Given the description of an element on the screen output the (x, y) to click on. 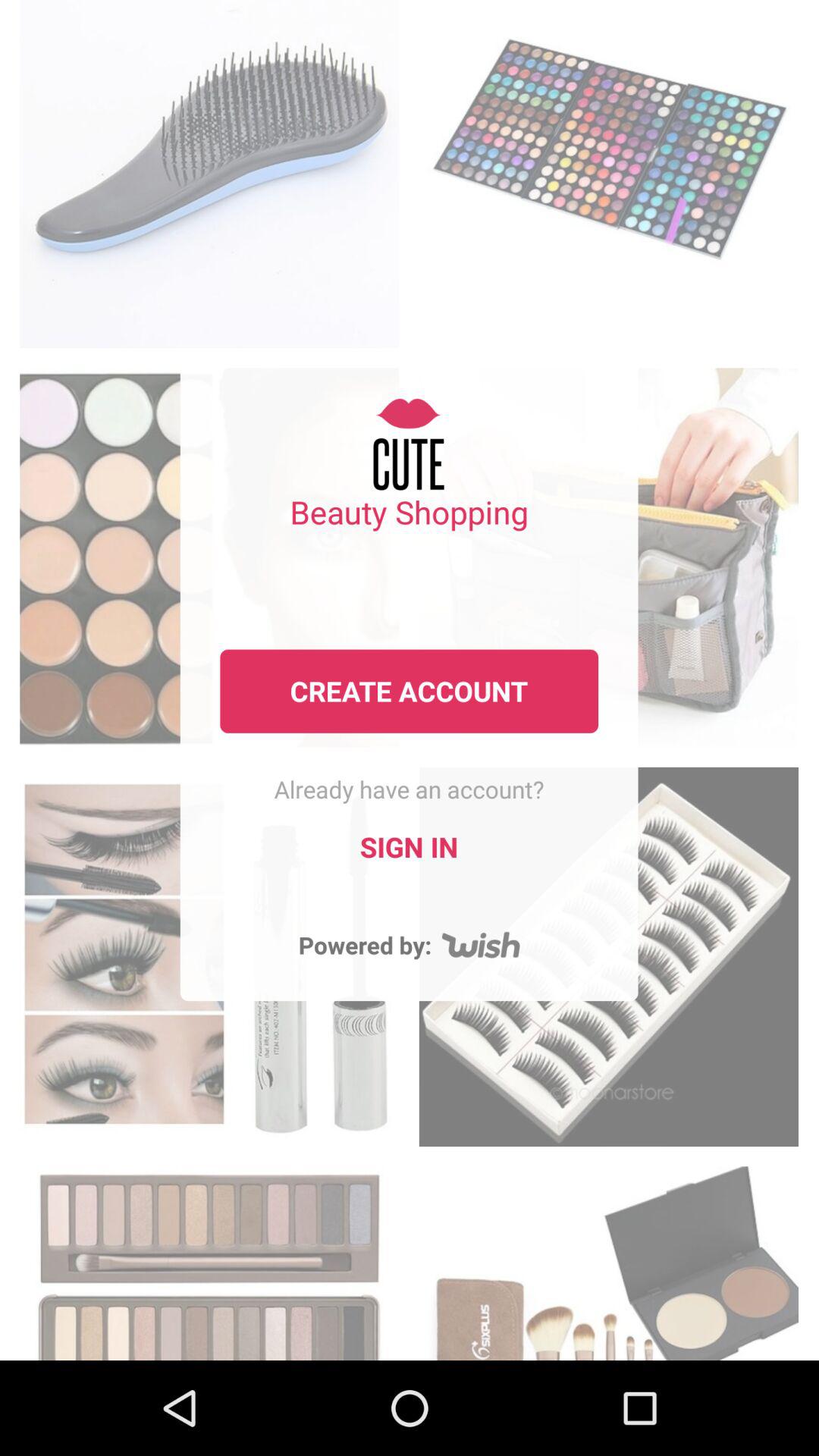
product box option (209, 170)
